Given the description of an element on the screen output the (x, y) to click on. 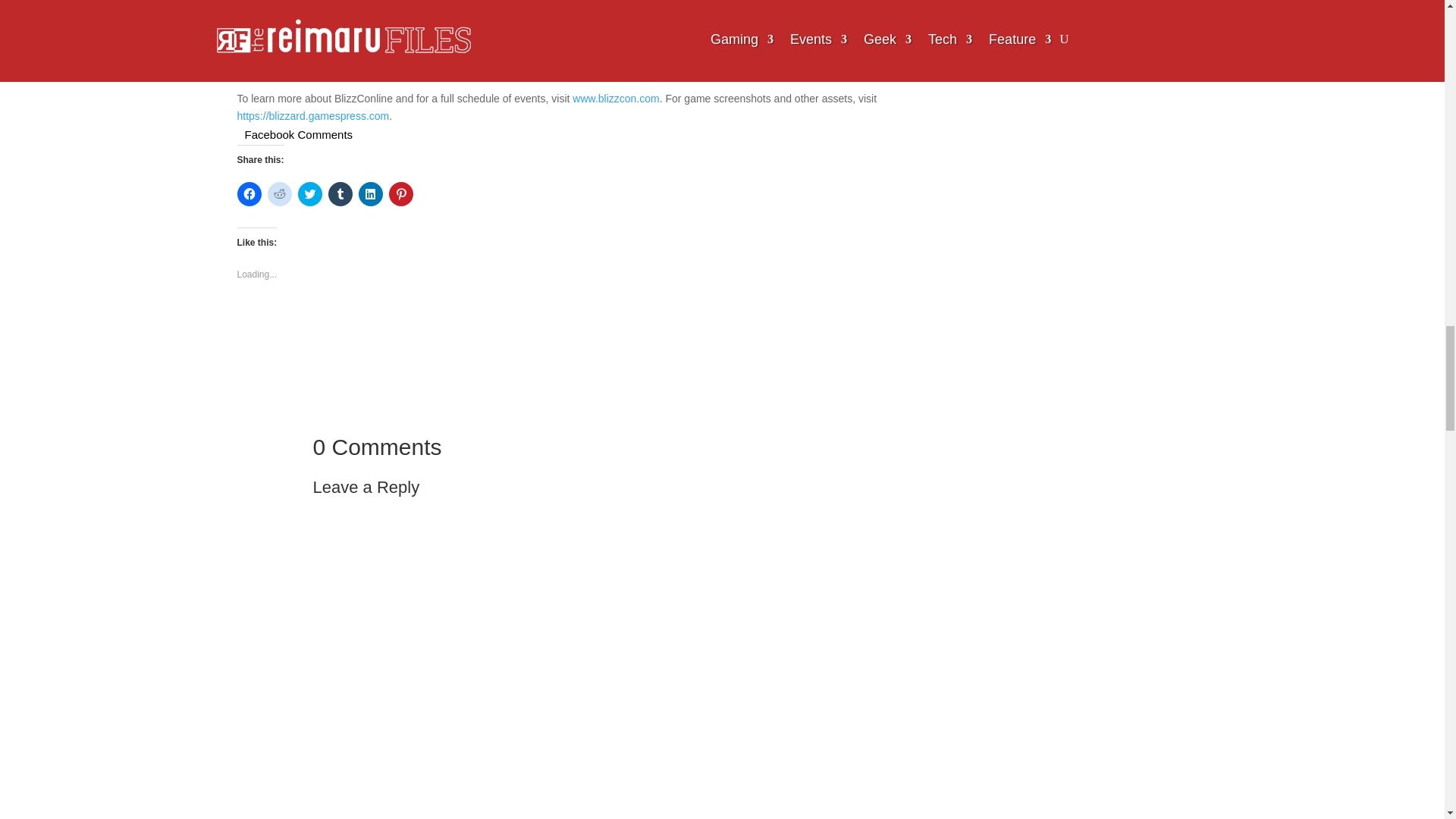
Comment Form (505, 661)
Click to share on Reddit (278, 193)
Click to share on Tumblr (339, 193)
Click to share on Facebook (247, 193)
Click to share on Twitter (309, 193)
Click to share on LinkedIn (369, 193)
Click to share on Pinterest (400, 193)
